Given the description of an element on the screen output the (x, y) to click on. 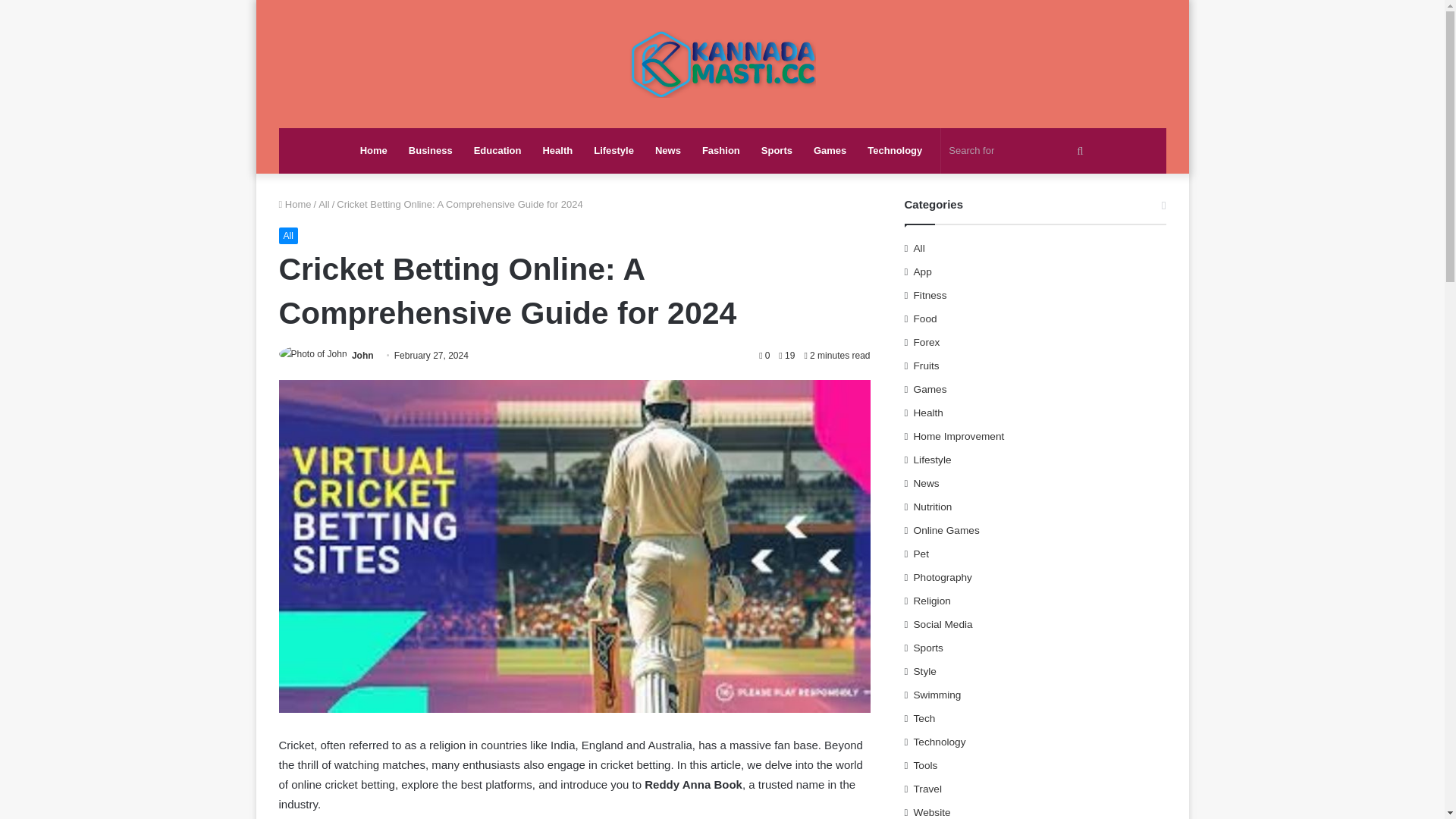
All (288, 235)
Health (557, 150)
Games (830, 150)
John (363, 355)
Search for (1017, 150)
Technology (895, 150)
John (363, 355)
Education (497, 150)
Fashion (721, 150)
Sports (777, 150)
